Given the description of an element on the screen output the (x, y) to click on. 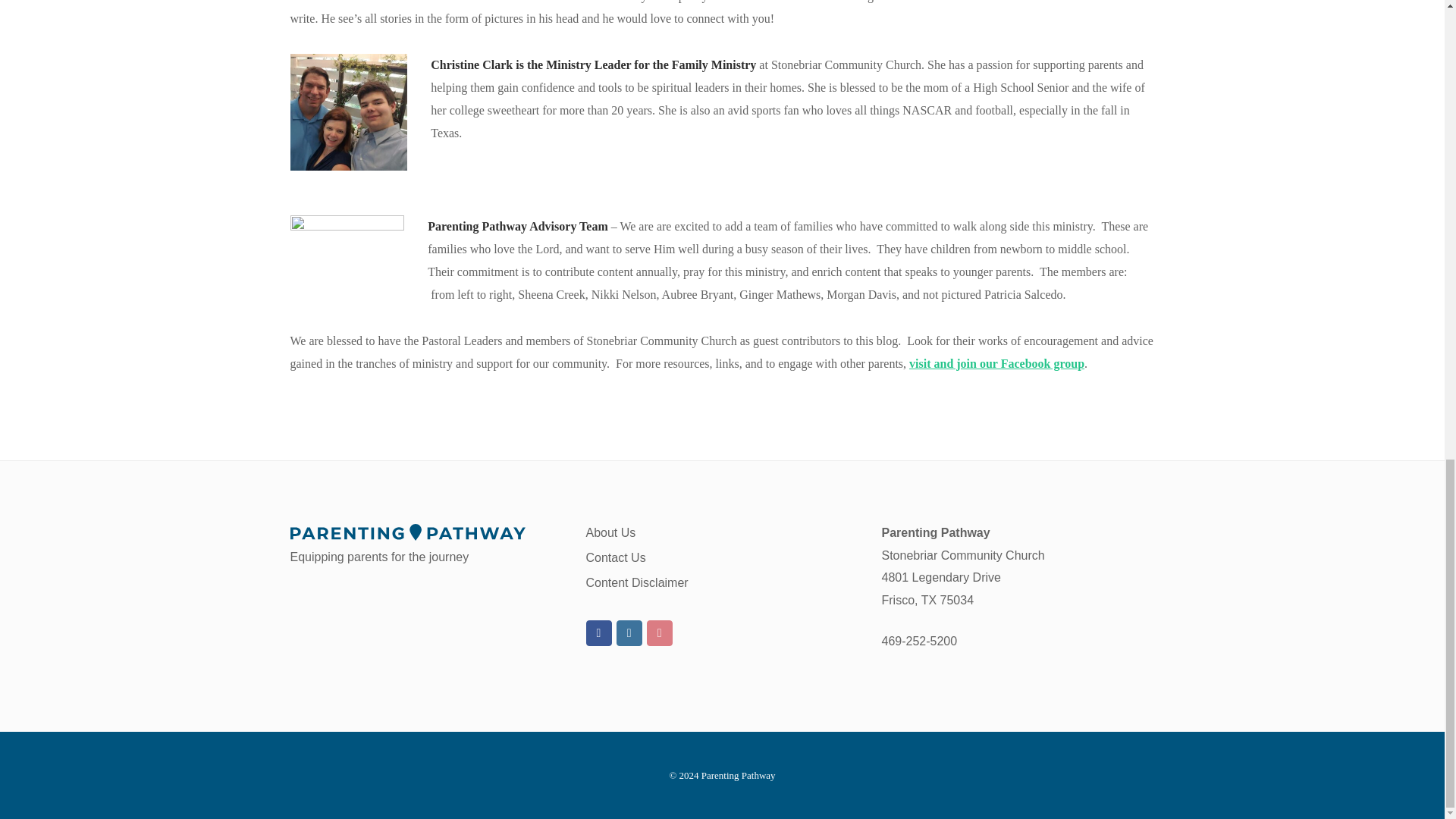
Pinterest (659, 632)
Facebook Group (598, 632)
Contact Us (615, 557)
visit and join our Facebook group (996, 363)
Home Page (425, 544)
About Us (609, 532)
Equipping parents for the journey (425, 544)
Content Disclaimer (636, 582)
